Given the description of an element on the screen output the (x, y) to click on. 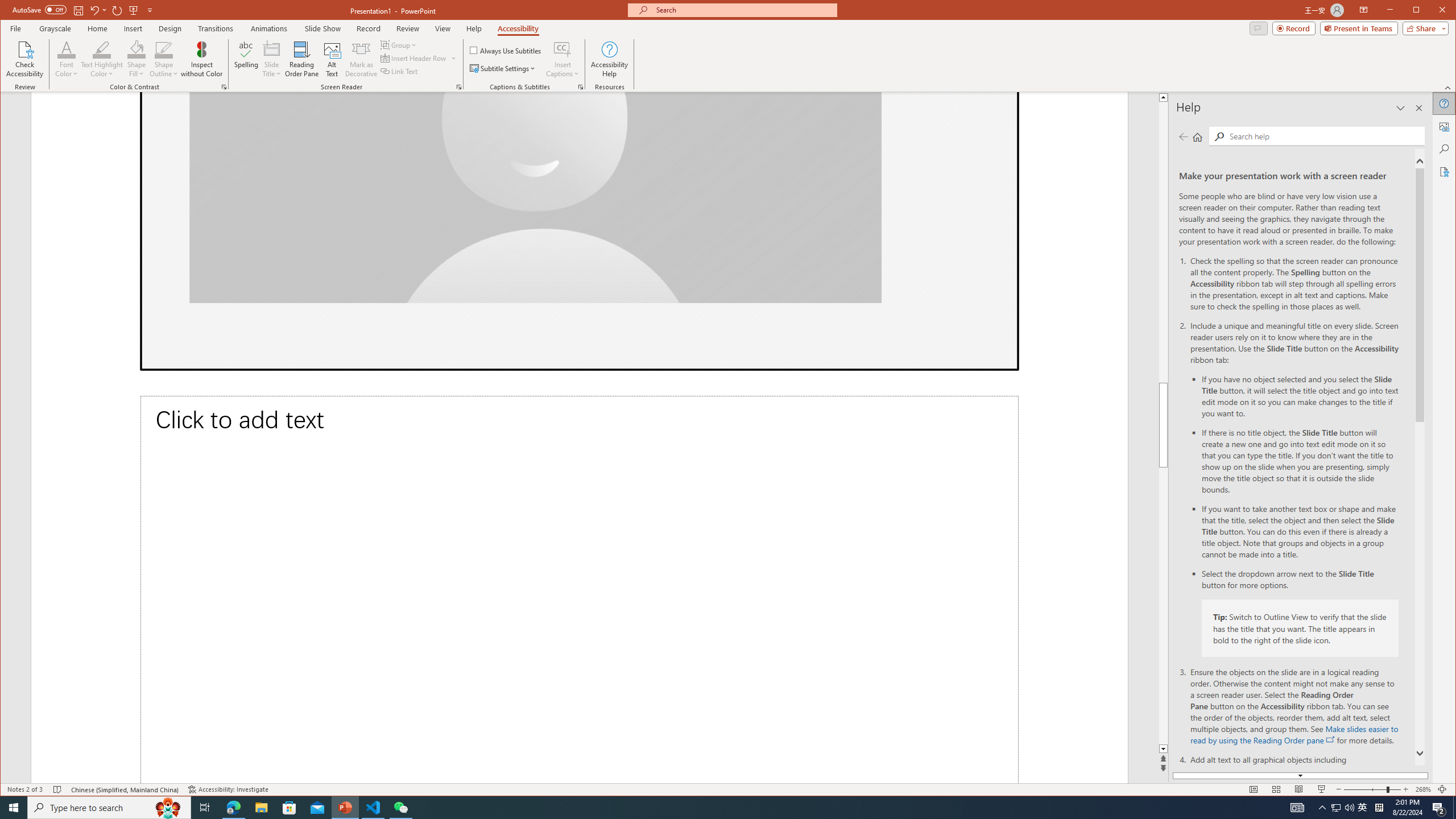
Zoom 268% (1422, 789)
Accessibility Help (608, 59)
